Given the description of an element on the screen output the (x, y) to click on. 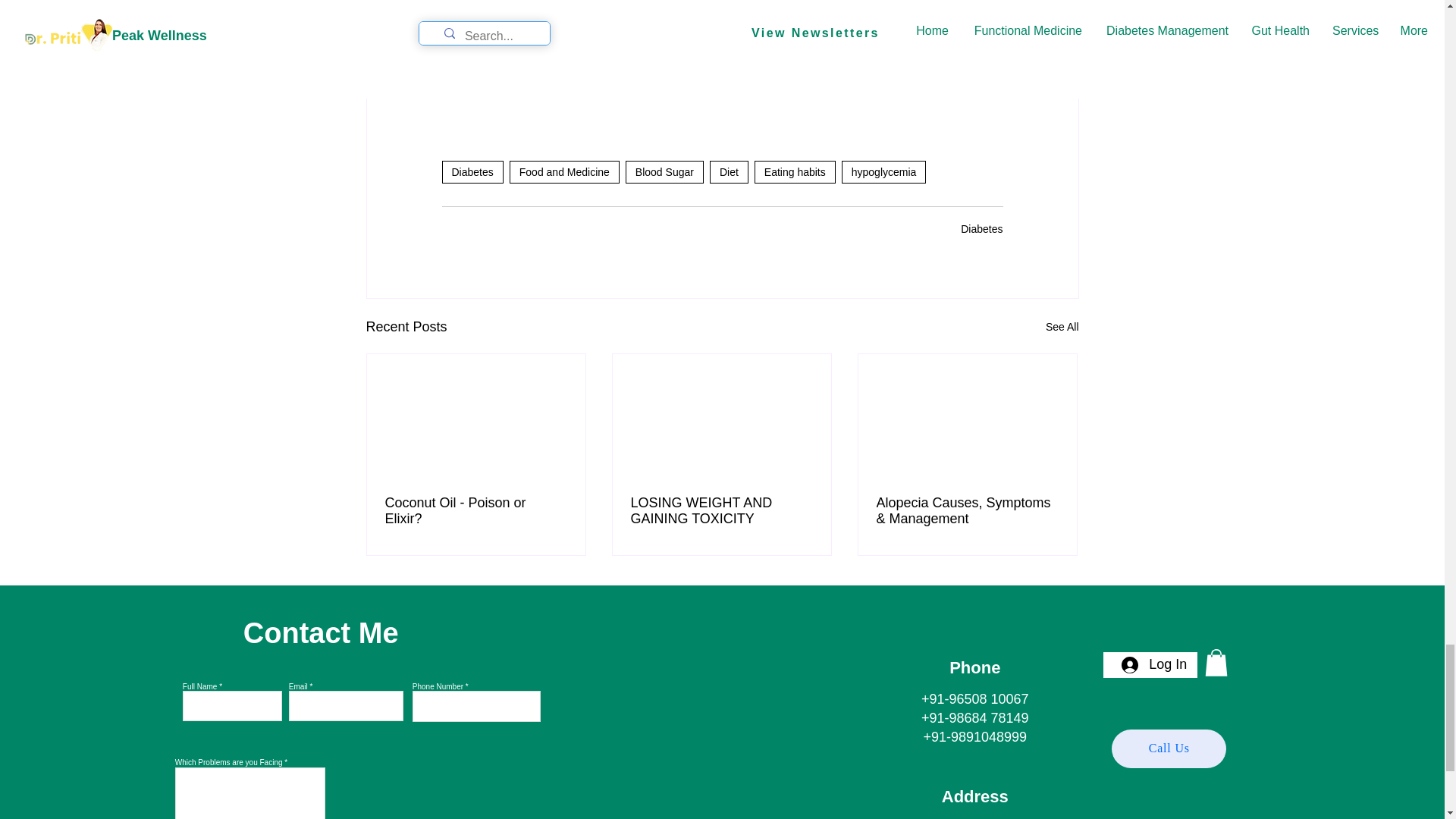
Diet (729, 171)
Food and Medicine (564, 171)
Eating habits (794, 171)
hypoglycemia (883, 171)
Blood Sugar (664, 171)
Diabetes (981, 228)
See All (1061, 327)
Coconut Oil - Poison or Elixir? (476, 511)
Diabetes (471, 171)
LOSING WEIGHT AND GAINING TOXICITY (721, 511)
